Given the description of an element on the screen output the (x, y) to click on. 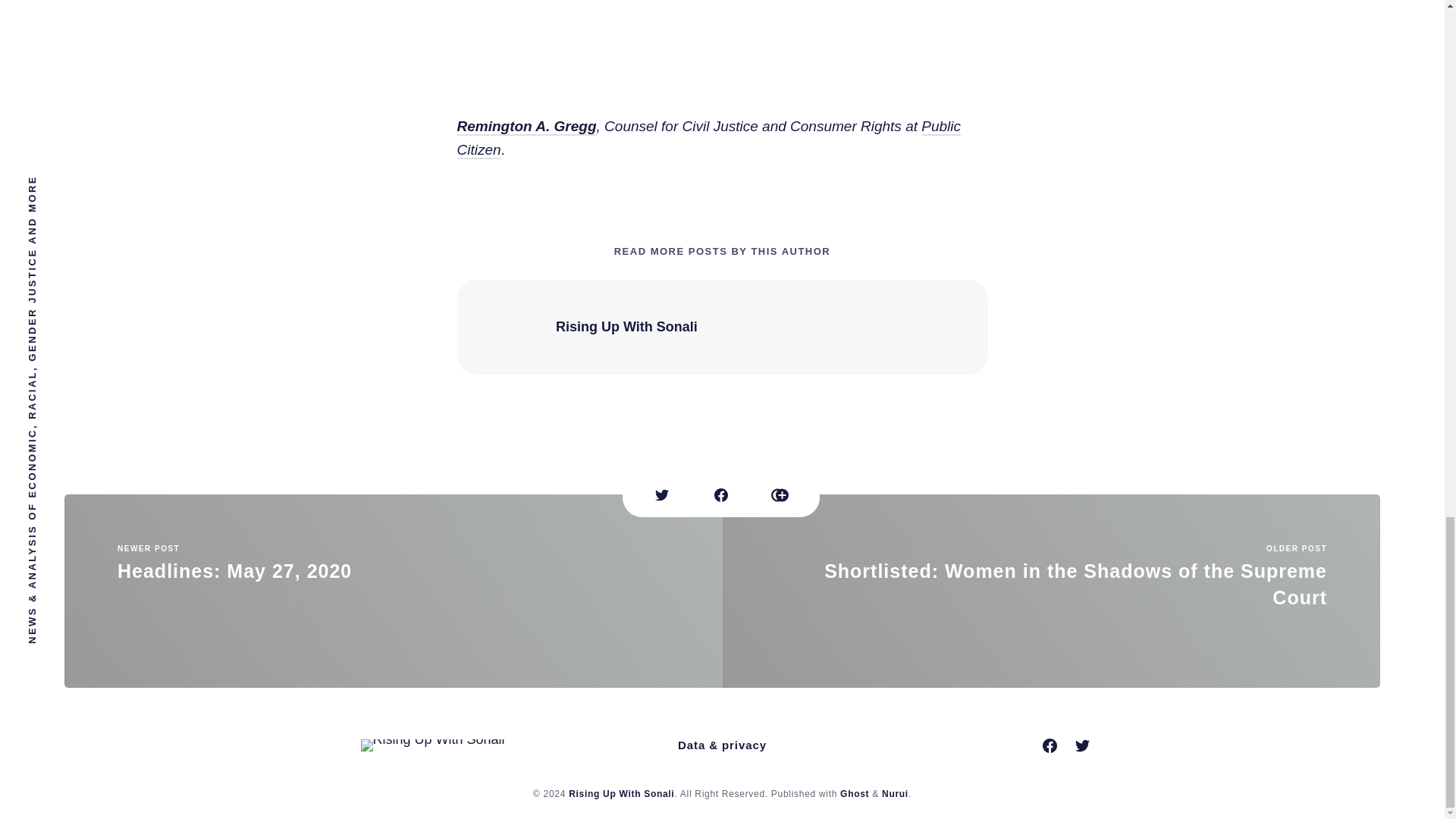
Remington A. Gregg (526, 126)
Ghost (854, 793)
Public Citizen (708, 137)
Rising Up With Sonali (393, 590)
Rising Up With Sonali (625, 326)
Nurui (621, 793)
